Given the description of an element on the screen output the (x, y) to click on. 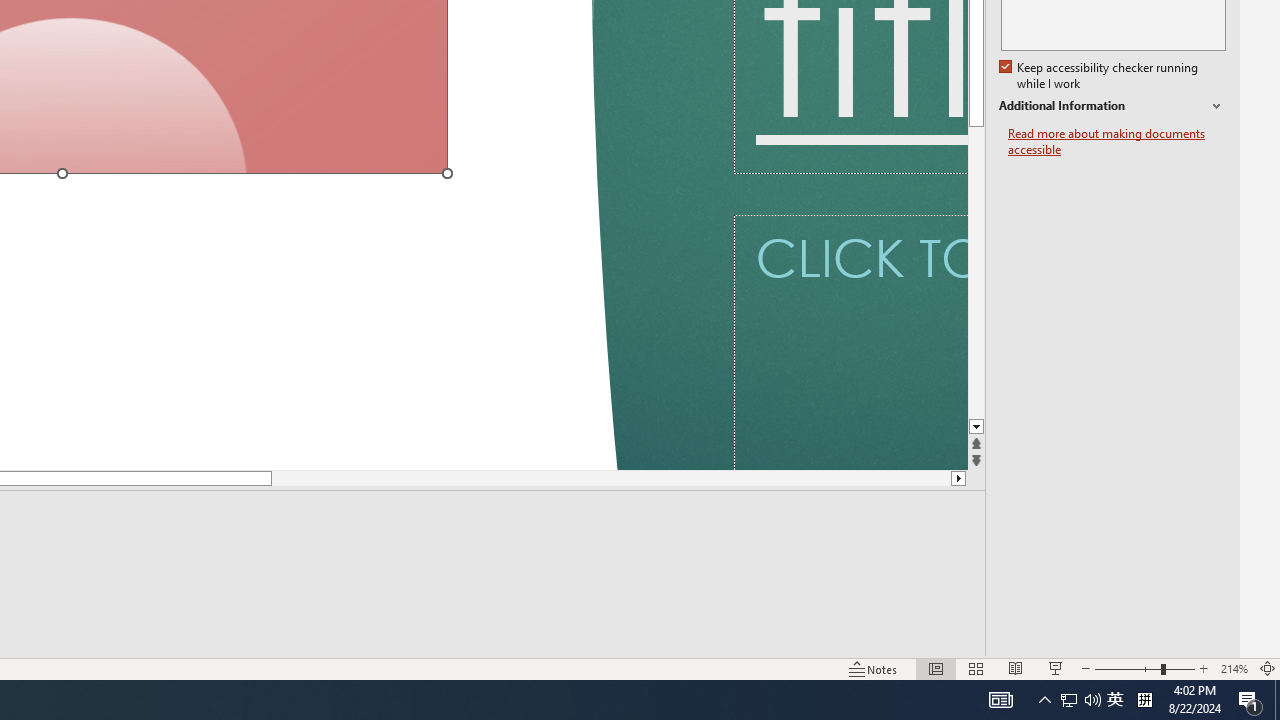
Line down (976, 427)
Additional Information (1112, 106)
Keep accessibility checker running while I work (1099, 76)
Subtitle TextBox (850, 342)
Zoom 214% (1234, 668)
Page down (572, 478)
Read more about making documents accessible (1117, 142)
